Given the description of an element on the screen output the (x, y) to click on. 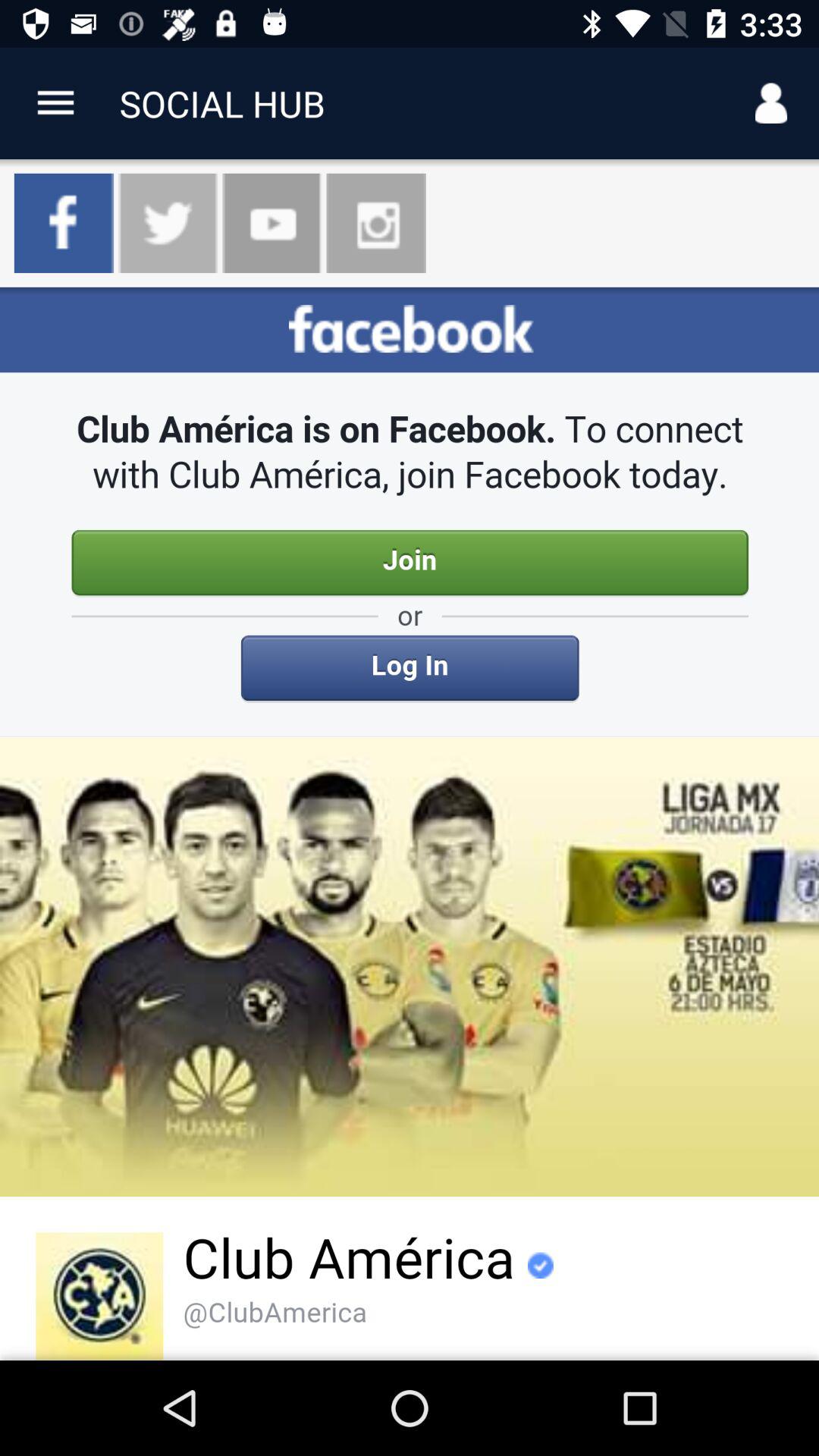
menu (55, 103)
